Given the description of an element on the screen output the (x, y) to click on. 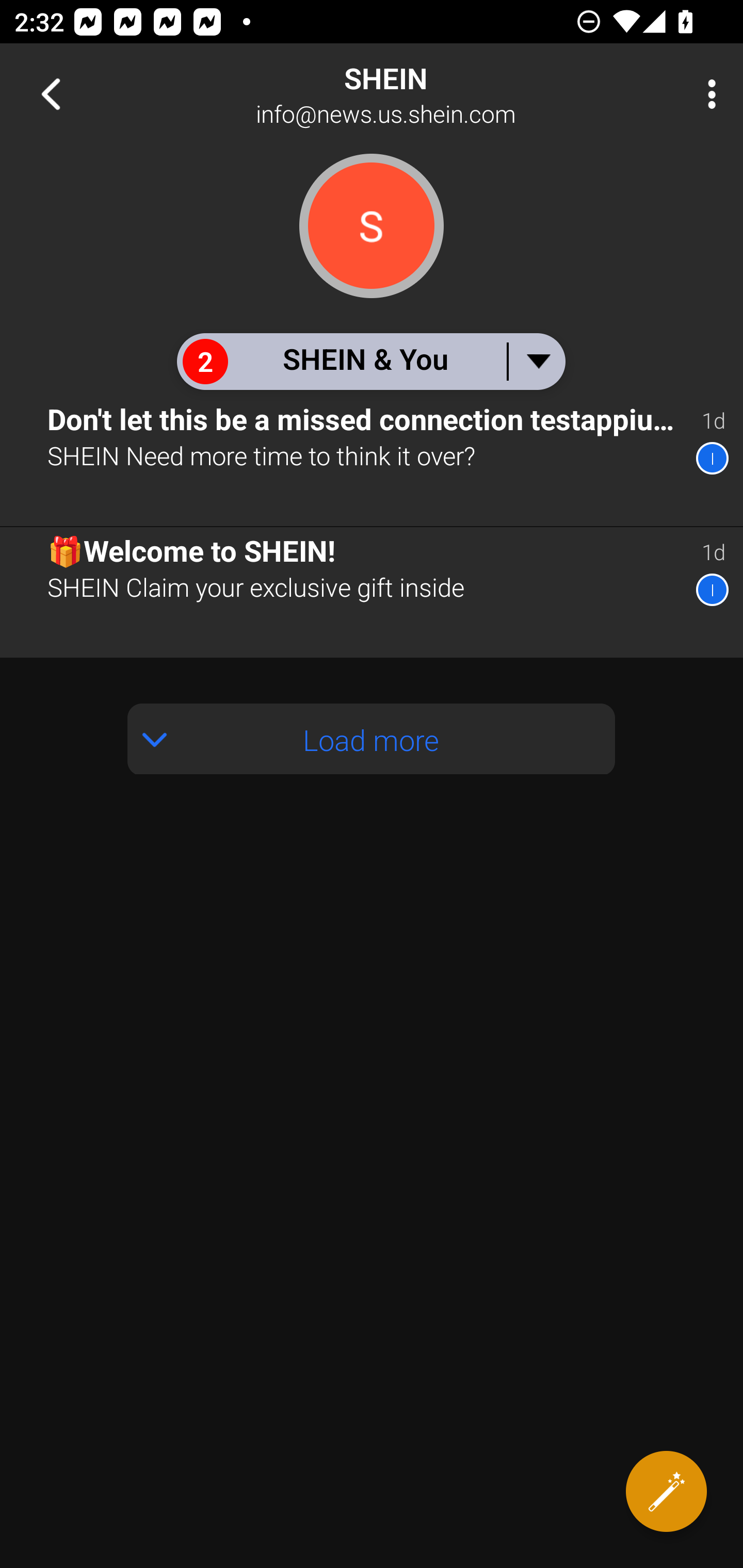
Navigate up (50, 93)
SHEIN info@news.us.shein.com (436, 93)
More Options (706, 93)
2 SHEIN & You (370, 361)
Load more (371, 739)
